Given the description of an element on the screen output the (x, y) to click on. 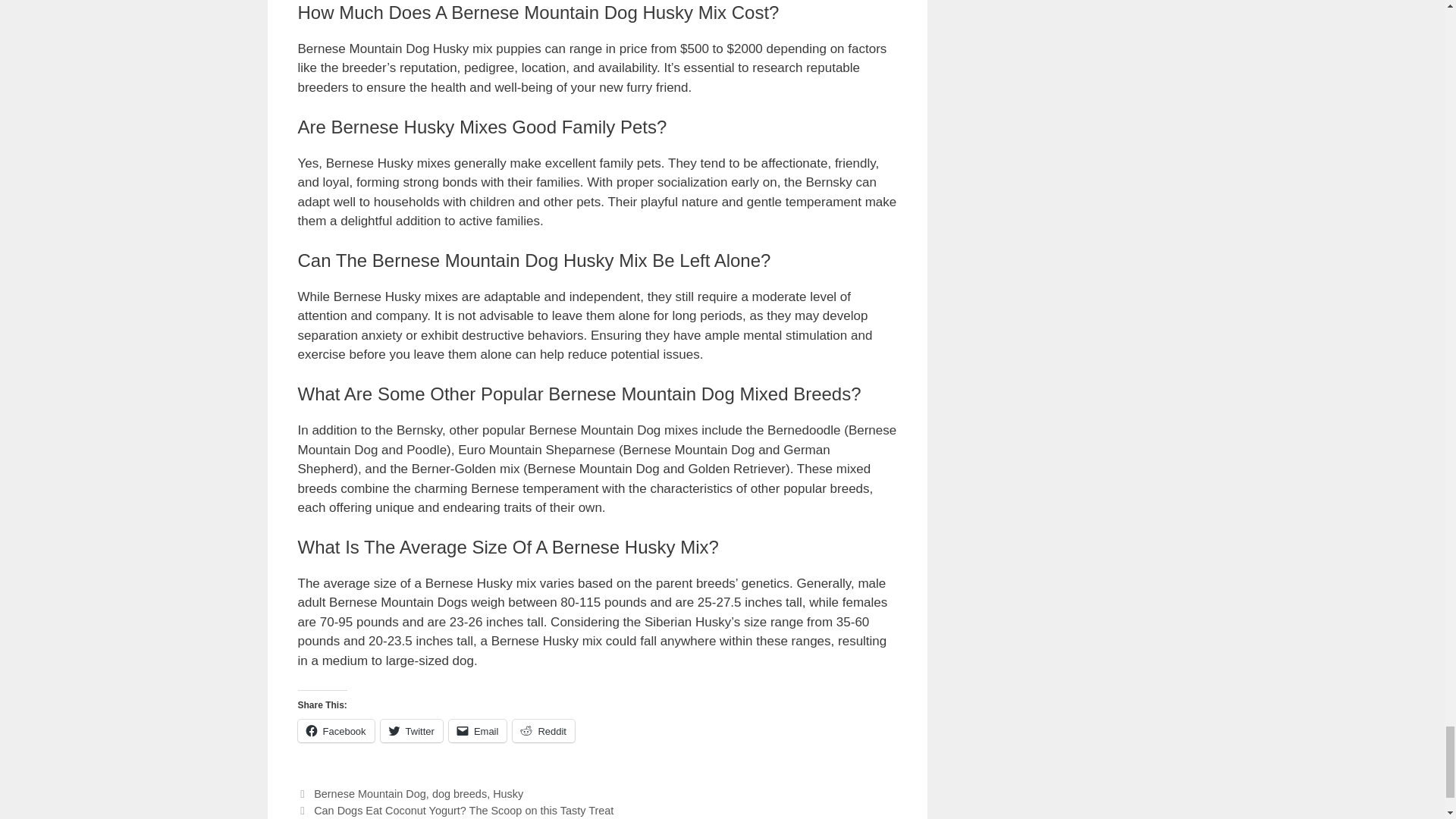
Can Dogs Eat Coconut Yogurt? The Scoop on this Tasty Treat (463, 810)
Reddit (543, 730)
Click to share on Reddit (543, 730)
Click to email a link to a friend (477, 730)
Bernese Mountain Dog (370, 793)
Twitter (411, 730)
Husky (507, 793)
dog breeds (459, 793)
Facebook (335, 730)
Click to share on Facebook (335, 730)
